Given the description of an element on the screen output the (x, y) to click on. 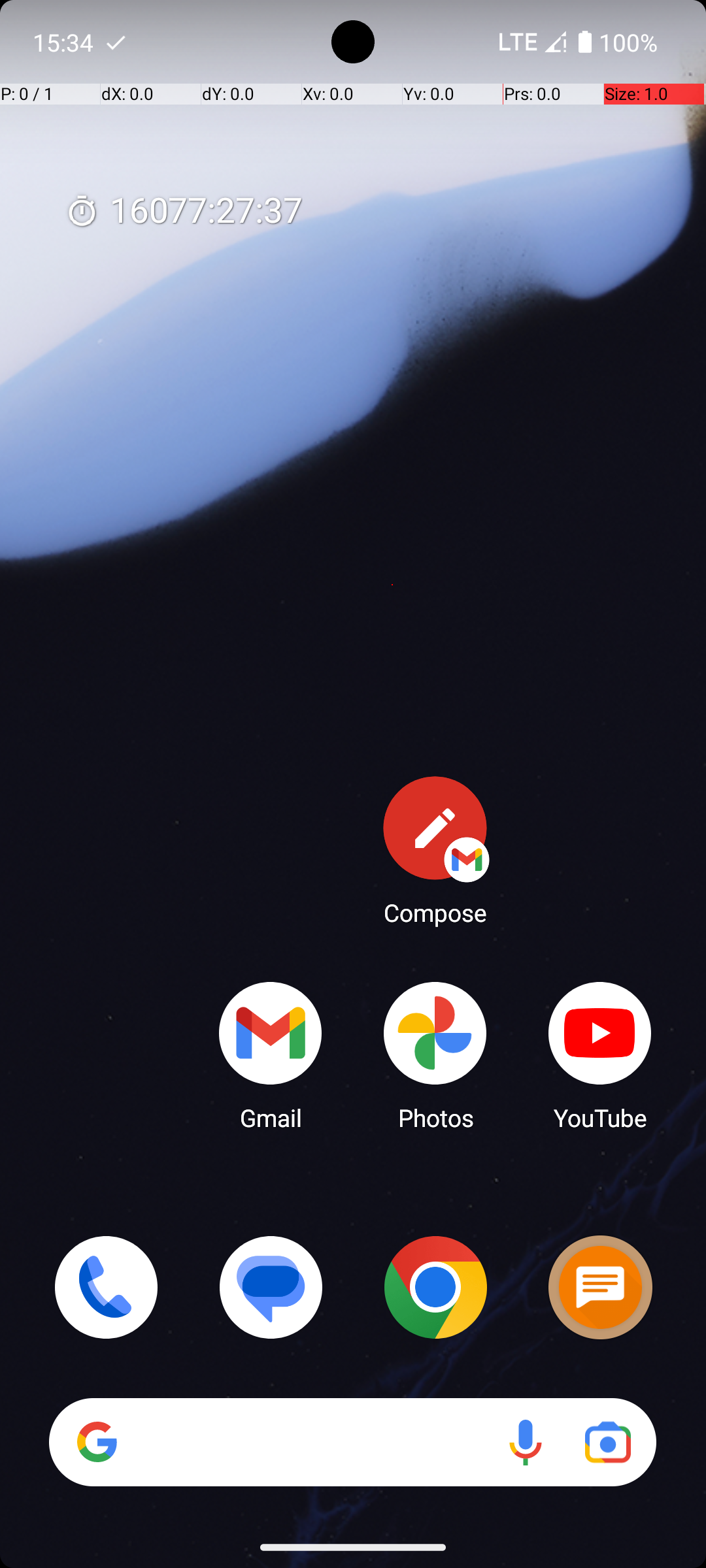
16077:27:37 Element type: android.widget.TextView (183, 210)
